Given the description of an element on the screen output the (x, y) to click on. 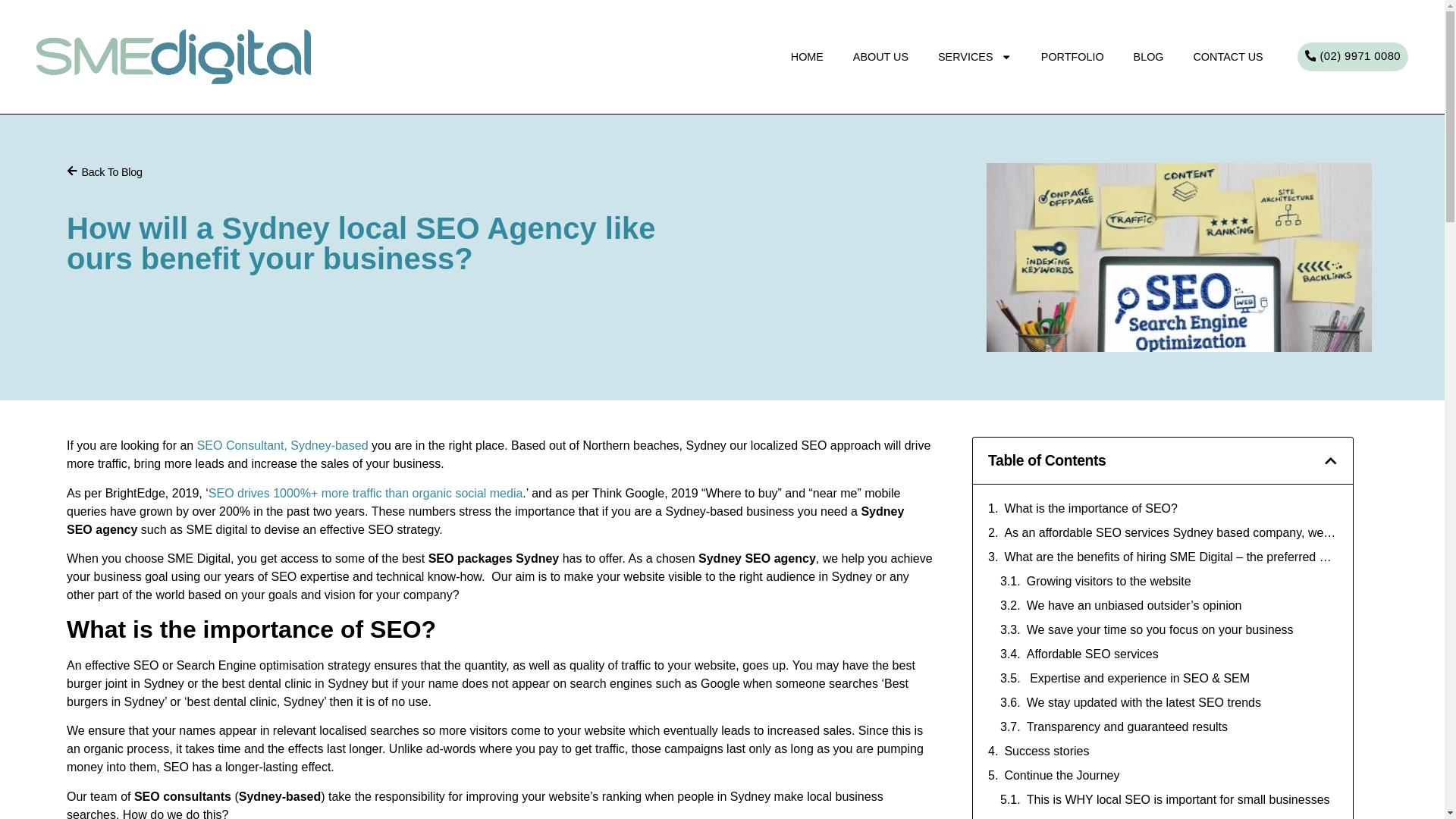
HOME (806, 56)
BLOG (1148, 56)
SERVICES (975, 56)
ABOUT US (879, 56)
CONTACT US (1227, 56)
PORTFOLIO (1072, 56)
